Given the description of an element on the screen output the (x, y) to click on. 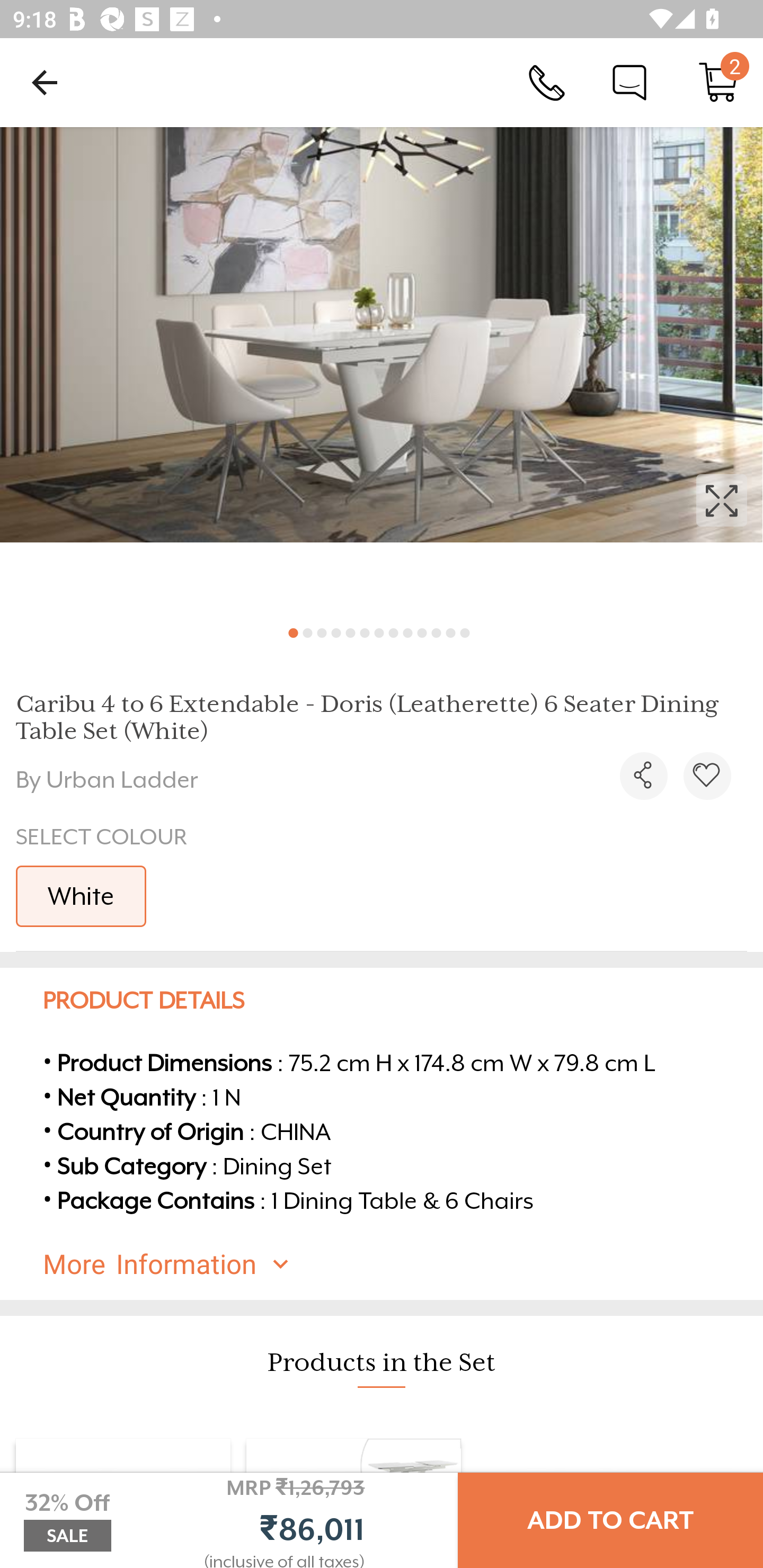
Navigate up (44, 82)
Call Us (546, 81)
Chat (629, 81)
Cart (718, 81)
 (381, 370)
 (643, 775)
 (706, 775)
White (81, 895)
More Information  (396, 1264)
ADD TO CART (610, 1520)
